Given the description of an element on the screen output the (x, y) to click on. 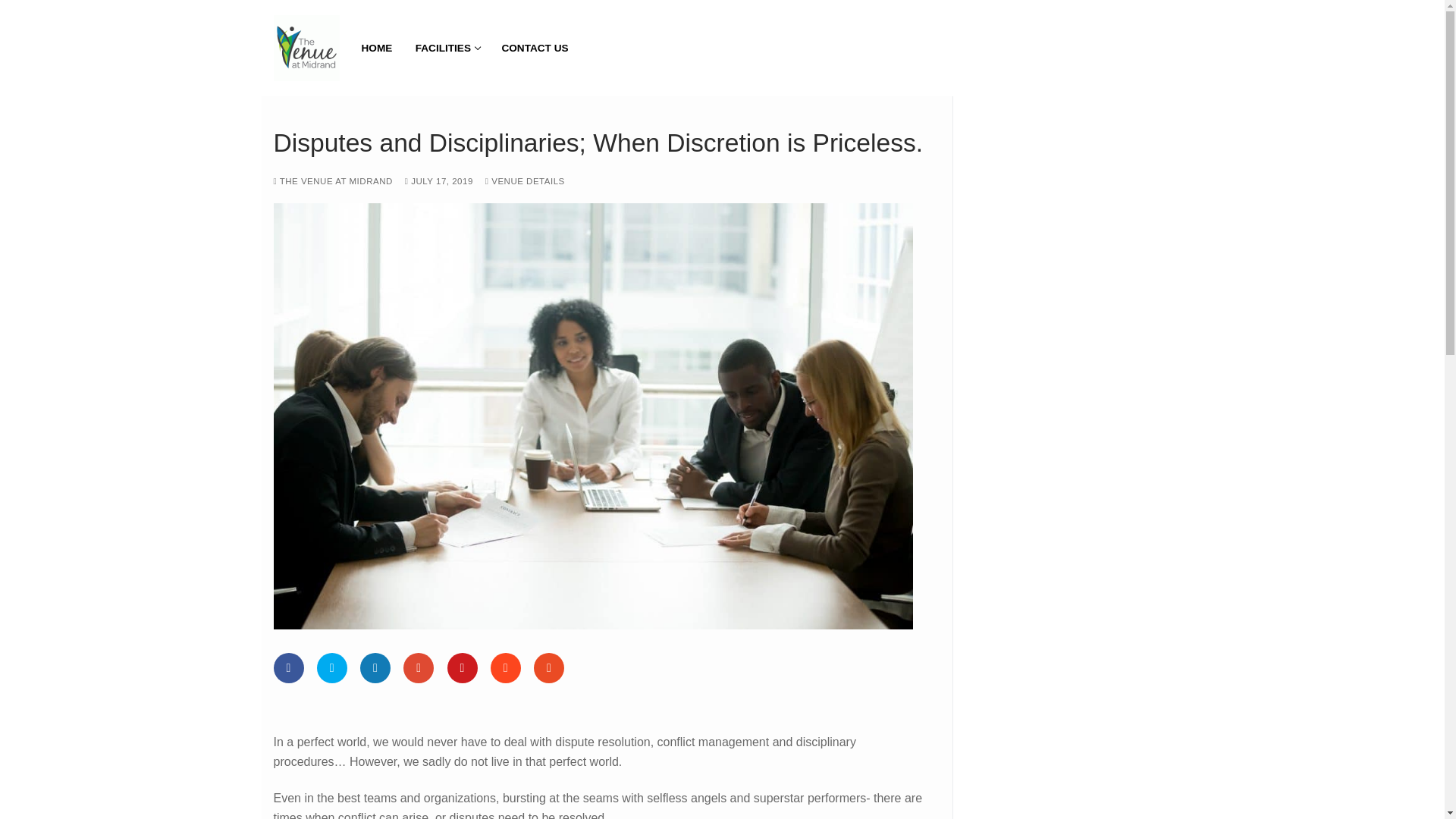
VENUE DETAILS (524, 180)
HOME (377, 48)
CONTACT US (535, 48)
THE VENUE AT MIDRAND (332, 180)
JULY 17, 2019 (438, 180)
